Given the description of an element on the screen output the (x, y) to click on. 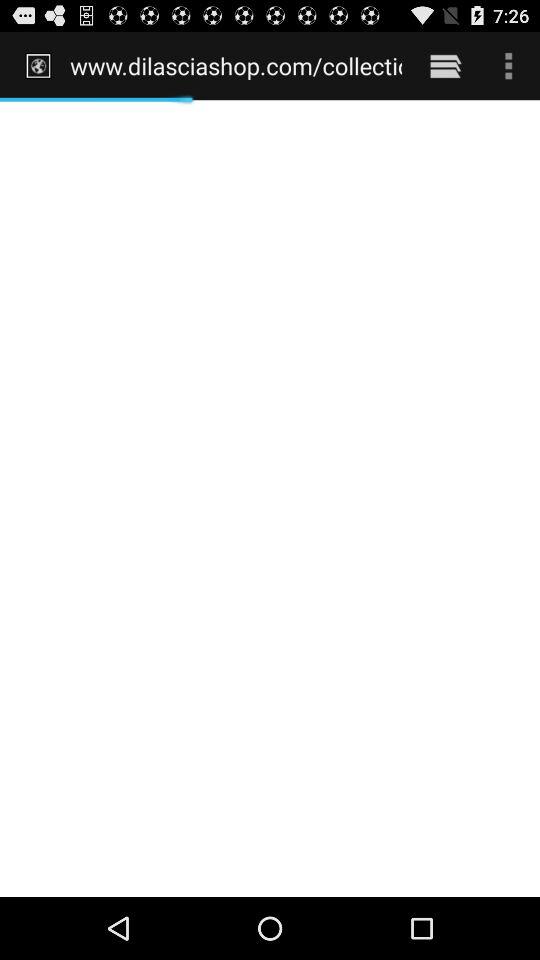
turn on the item to the right of www dilasciashop com icon (444, 65)
